Given the description of an element on the screen output the (x, y) to click on. 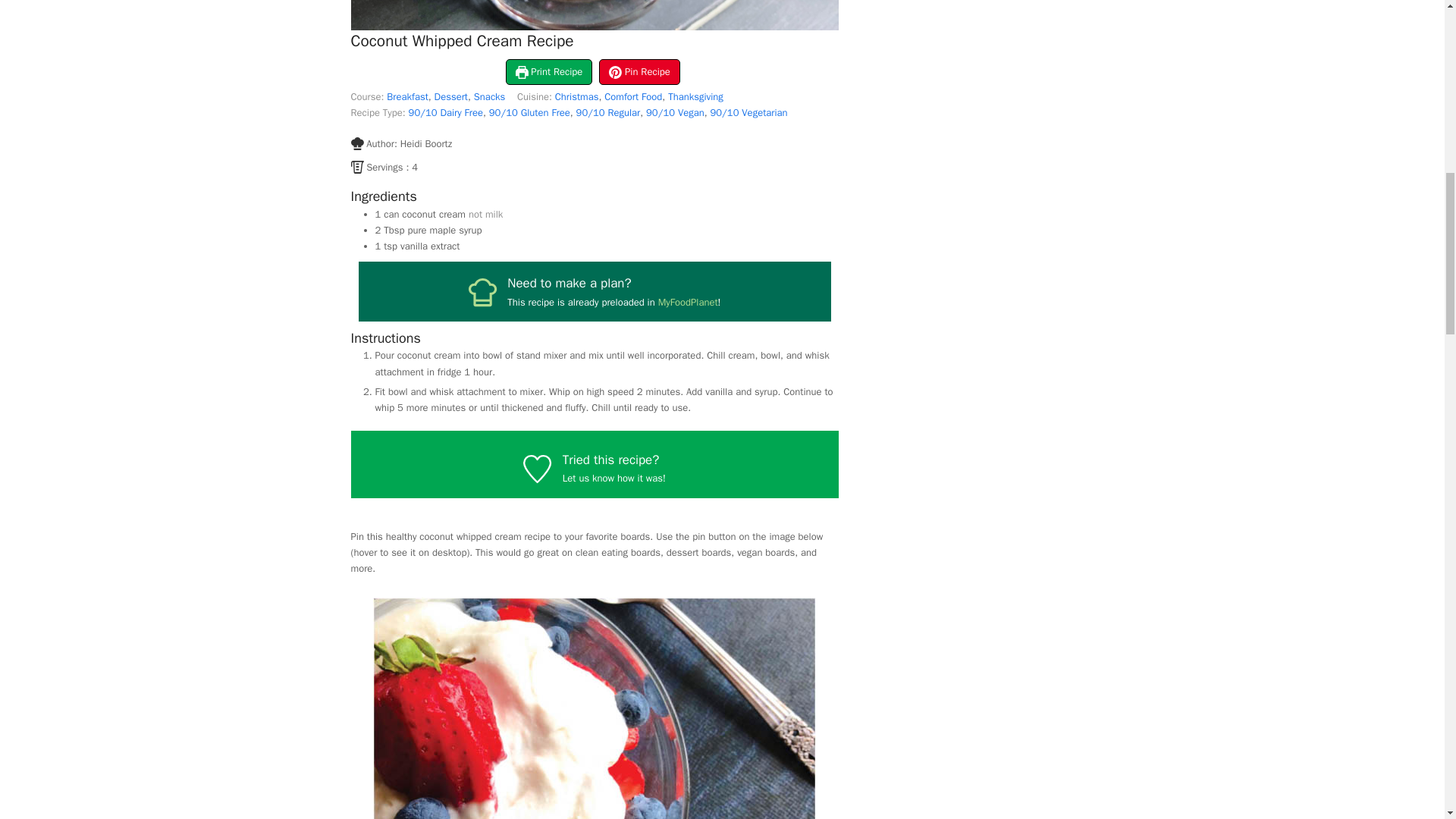
Coconut Whipped Cream (594, 705)
